Given the description of an element on the screen output the (x, y) to click on. 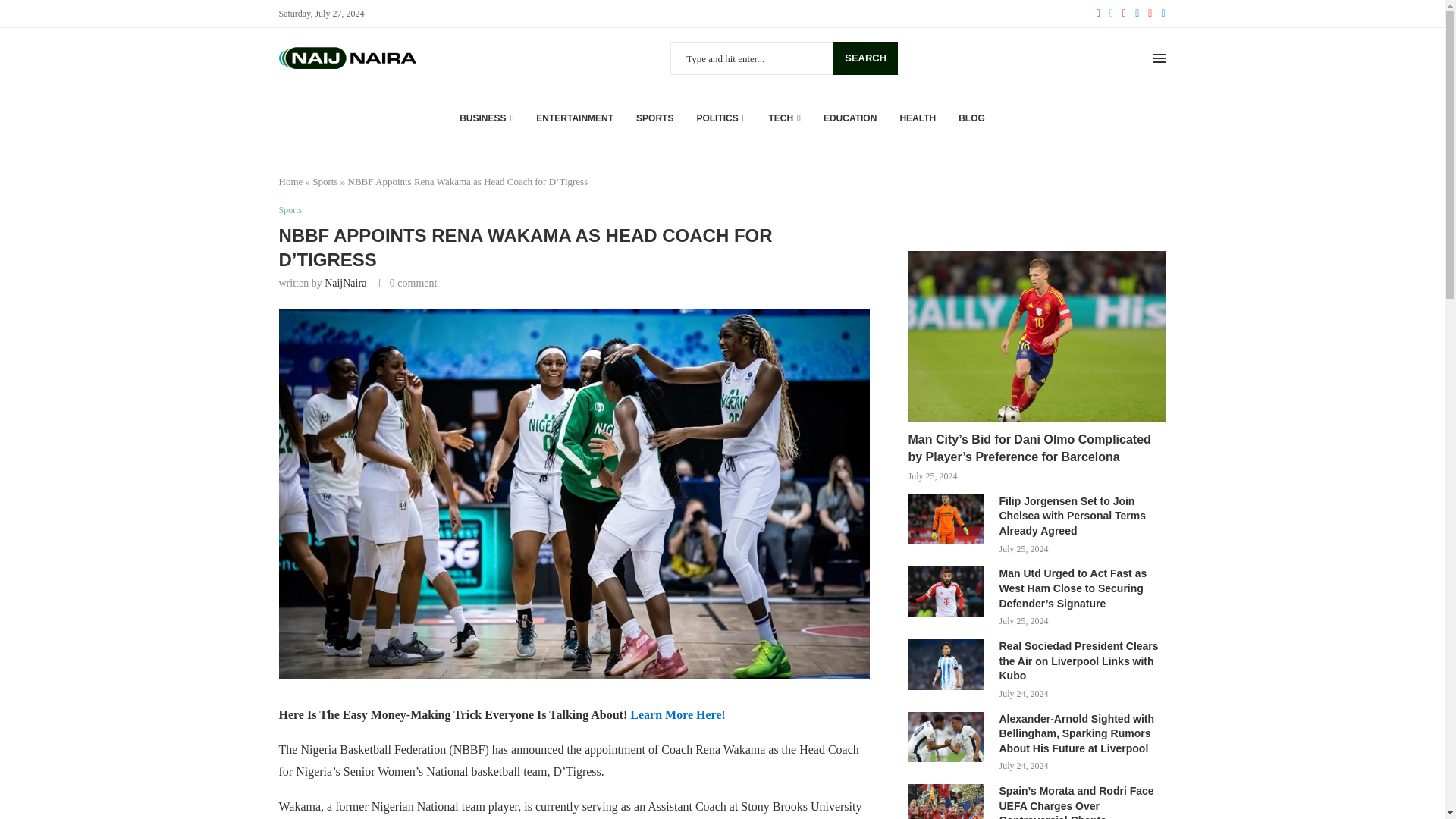
EDUCATION (850, 118)
BUSINESS (486, 118)
POLITICS (720, 118)
SEARCH (865, 57)
ENTERTAINMENT (573, 118)
